Given the description of an element on the screen output the (x, y) to click on. 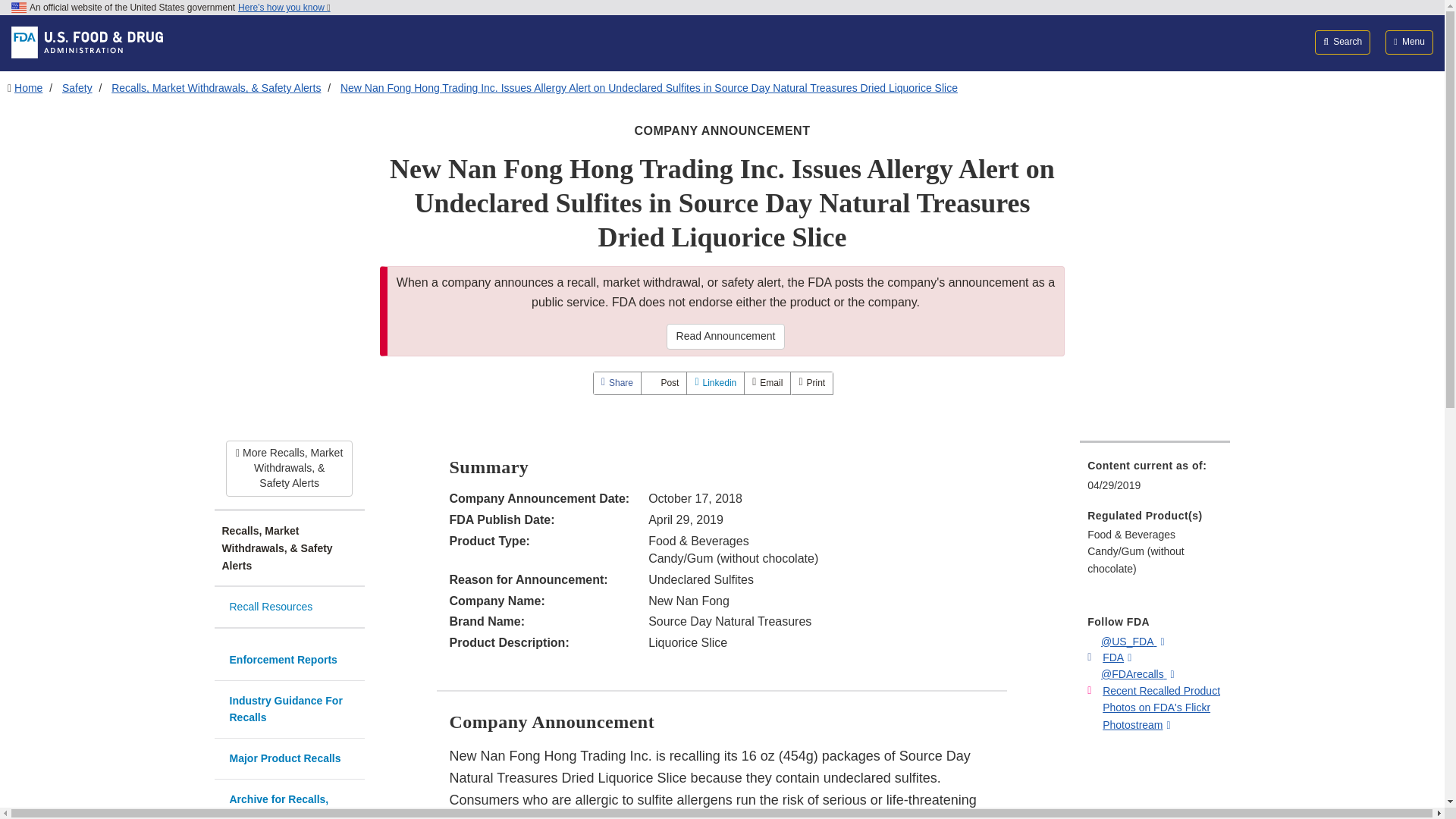
  Menu (1409, 42)
  Search (1342, 42)
Print this page (811, 382)
